Given the description of an element on the screen output the (x, y) to click on. 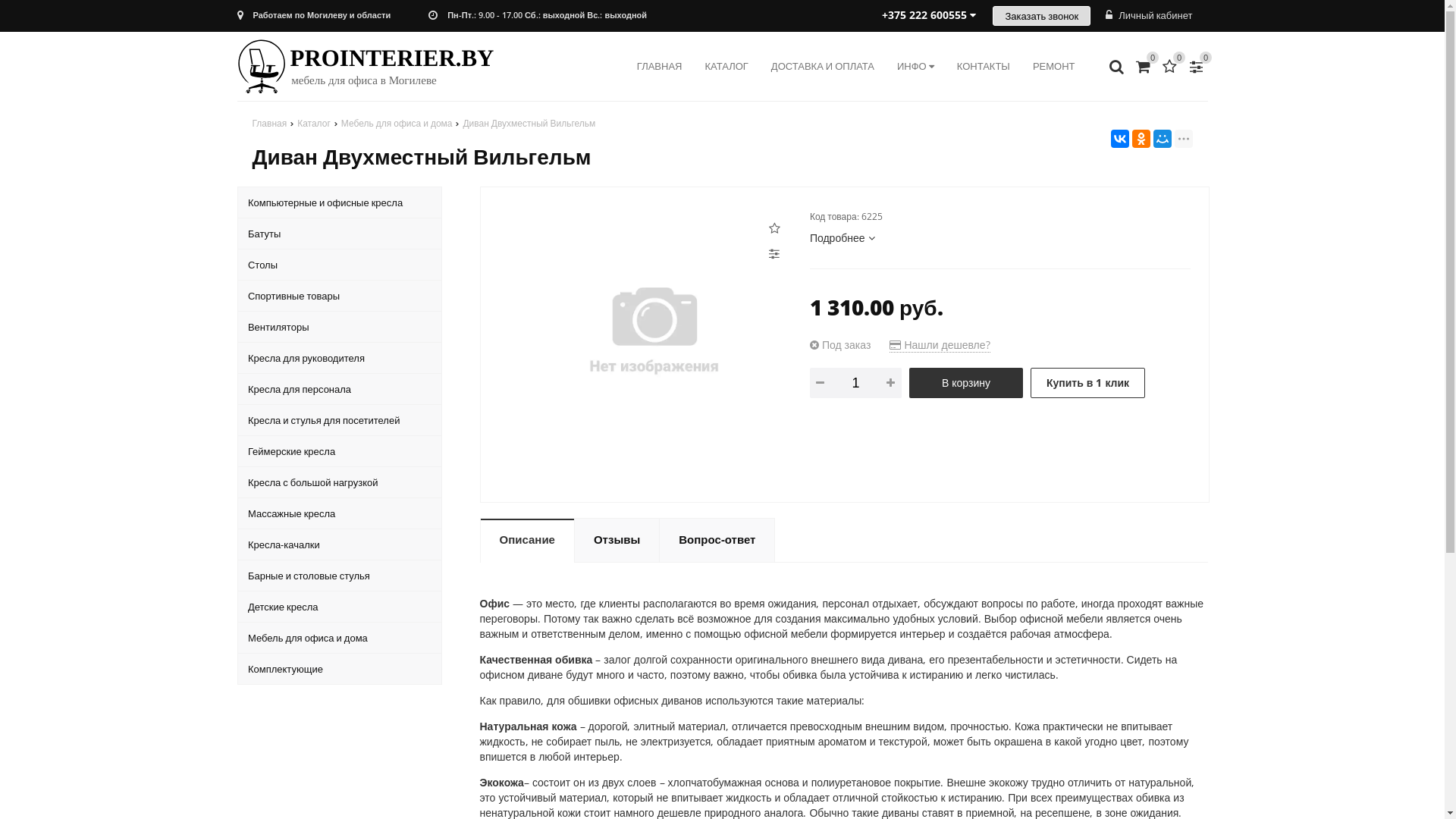
0 Element type: text (1195, 65)
0 Element type: text (1142, 65)
0 Element type: text (1169, 65)
+375 222 600555 Element type: text (928, 15)
